Given the description of an element on the screen output the (x, y) to click on. 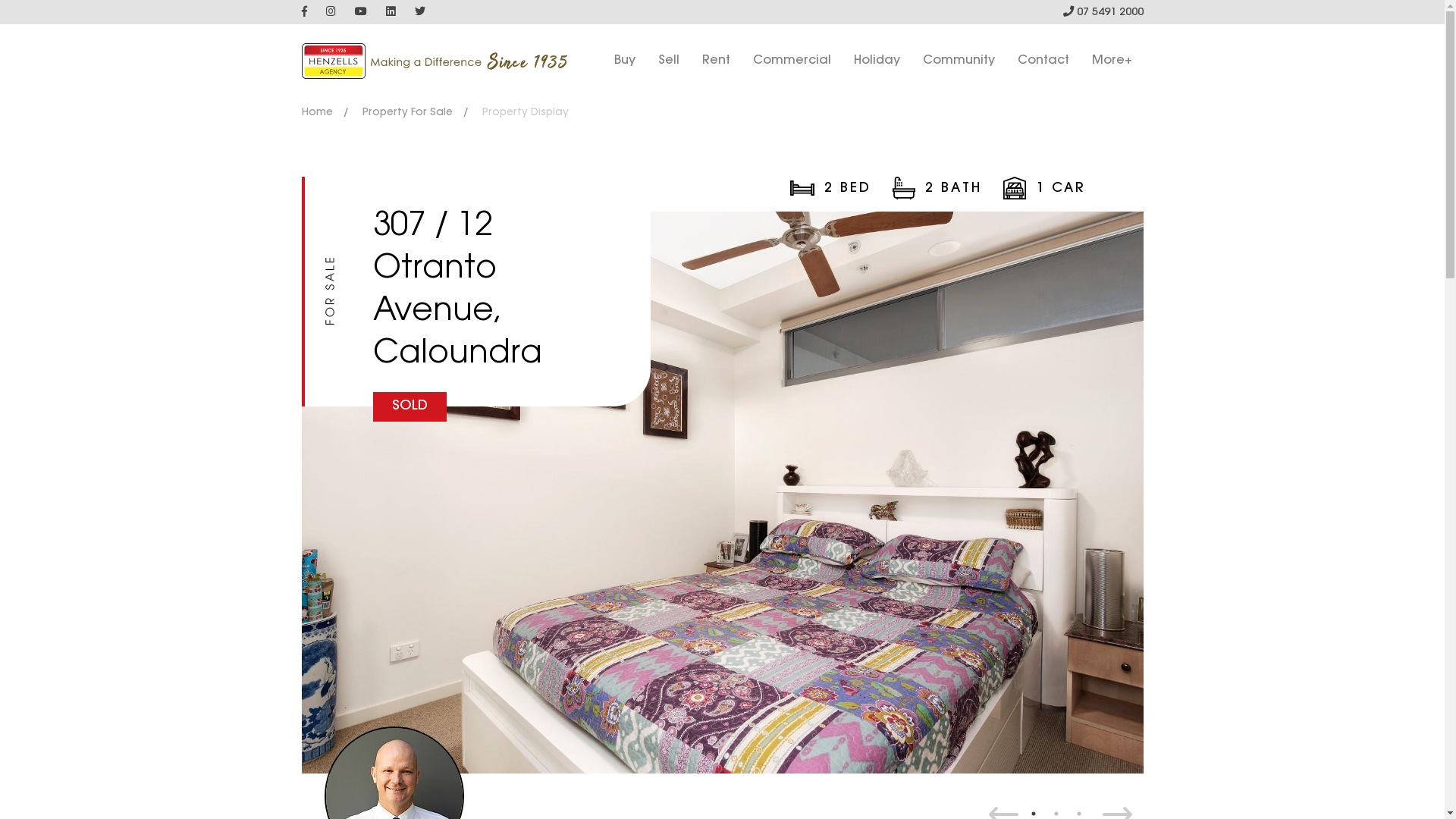
Community Element type: text (958, 60)
Property For Sale Element type: text (411, 112)
07 5491 2000 Element type: text (1103, 12)
Sell Element type: text (668, 60)
Home Element type: text (320, 112)
Commercial Element type: text (791, 60)
Holiday Element type: text (876, 60)
Buy Element type: text (624, 60)
More+ Element type: text (1111, 60)
Contact Element type: text (1043, 60)
Rent Element type: text (716, 60)
